Given the description of an element on the screen output the (x, y) to click on. 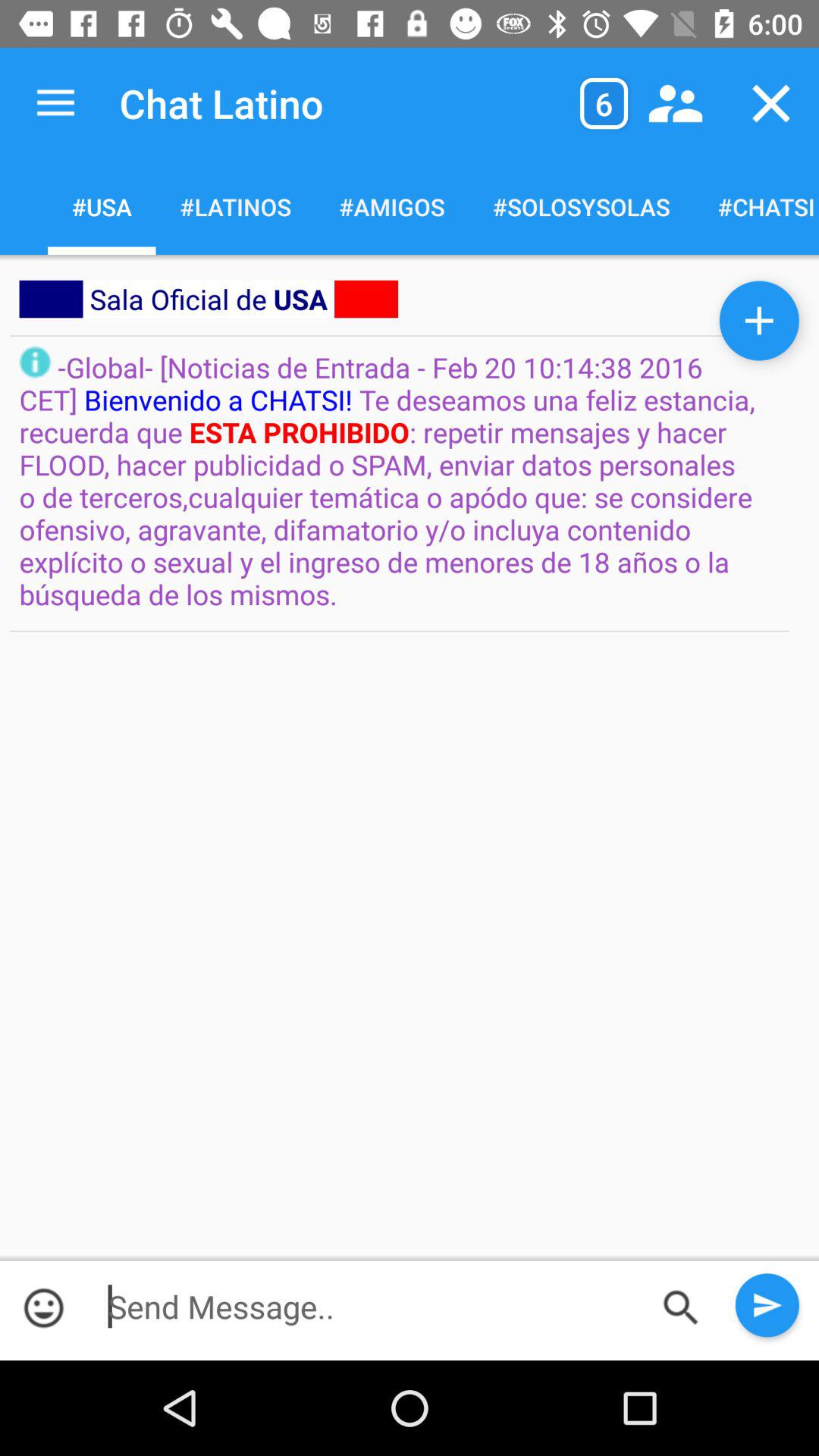
turn off app next to chat latino app (55, 103)
